Given the description of an element on the screen output the (x, y) to click on. 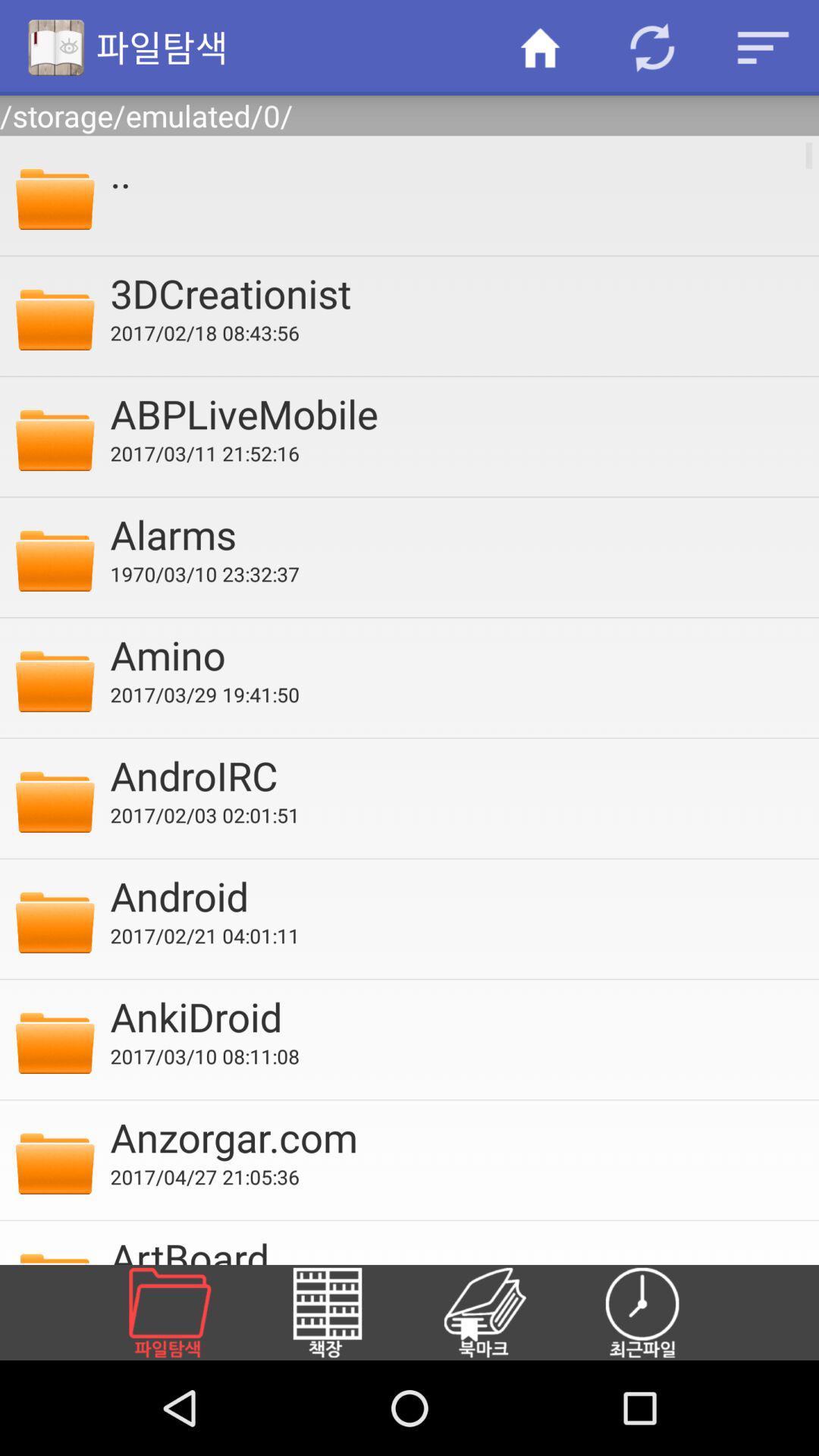
flip to anzorgar.com item (454, 1136)
